Given the description of an element on the screen output the (x, y) to click on. 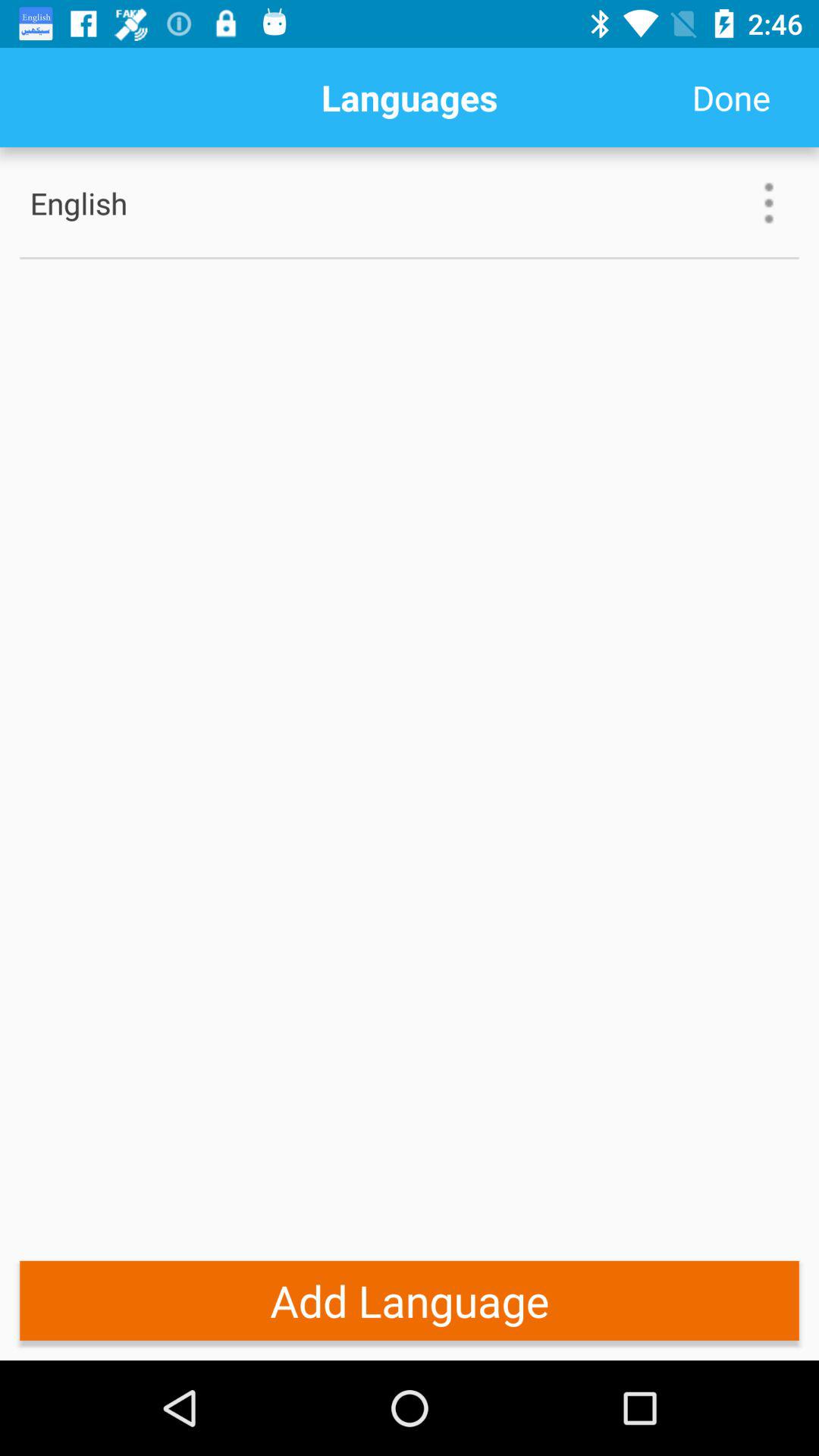
more options (768, 202)
